Given the description of an element on the screen output the (x, y) to click on. 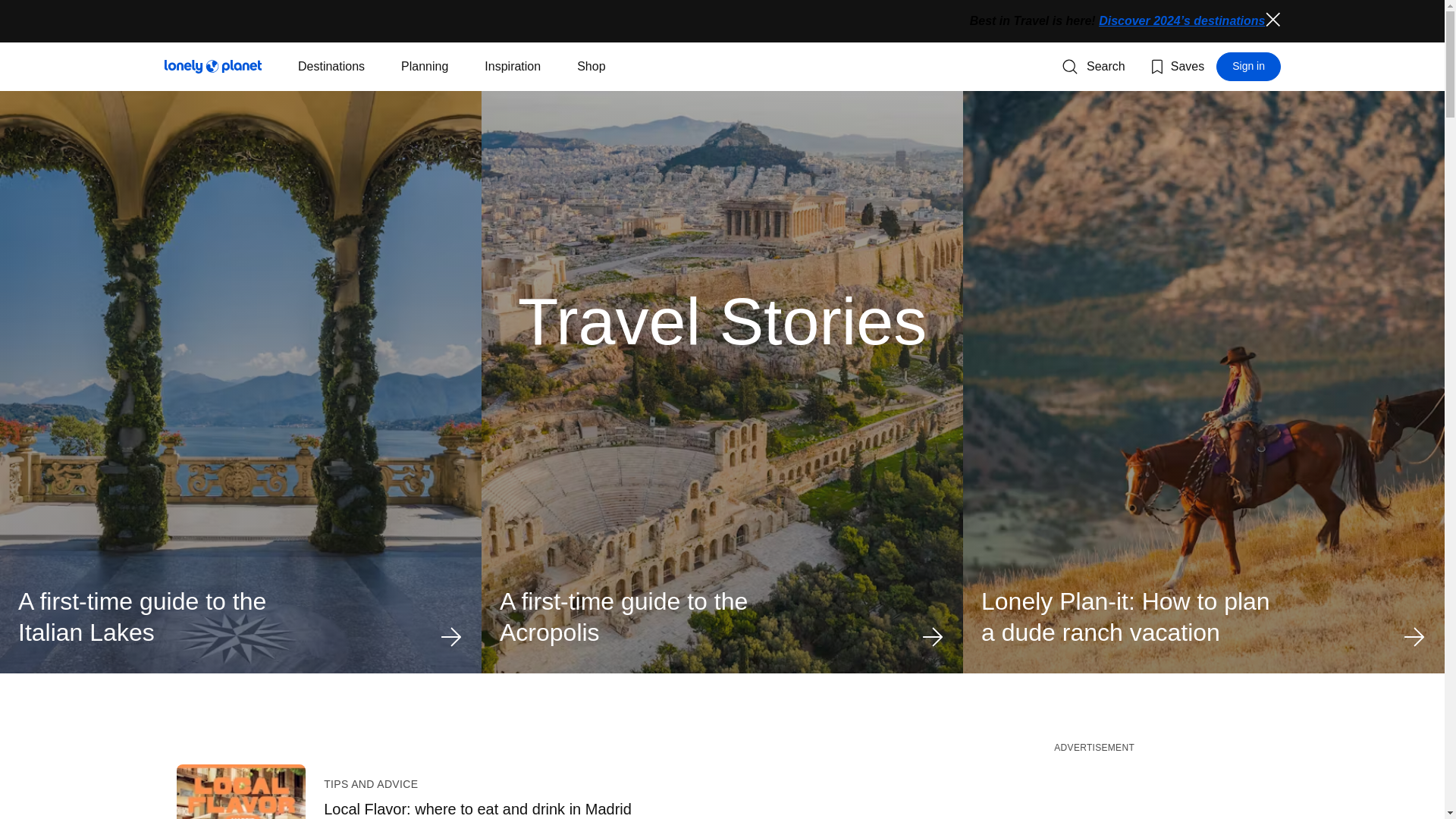
A first-time guide to the Acropolis (721, 617)
Inspiration (512, 66)
Lonely Plan-it: How to plan a dude ranch vacation (1203, 617)
A first-time guide to the Italian Lakes  (240, 617)
Planning (424, 66)
Saves (1176, 66)
Lonely Planet (1248, 66)
Local Flavor: where to eat and drink in Madrid (211, 66)
3rd party ad content (573, 808)
Search (1093, 790)
Close alert (1093, 66)
Destinations (1272, 19)
